Given the description of an element on the screen output the (x, y) to click on. 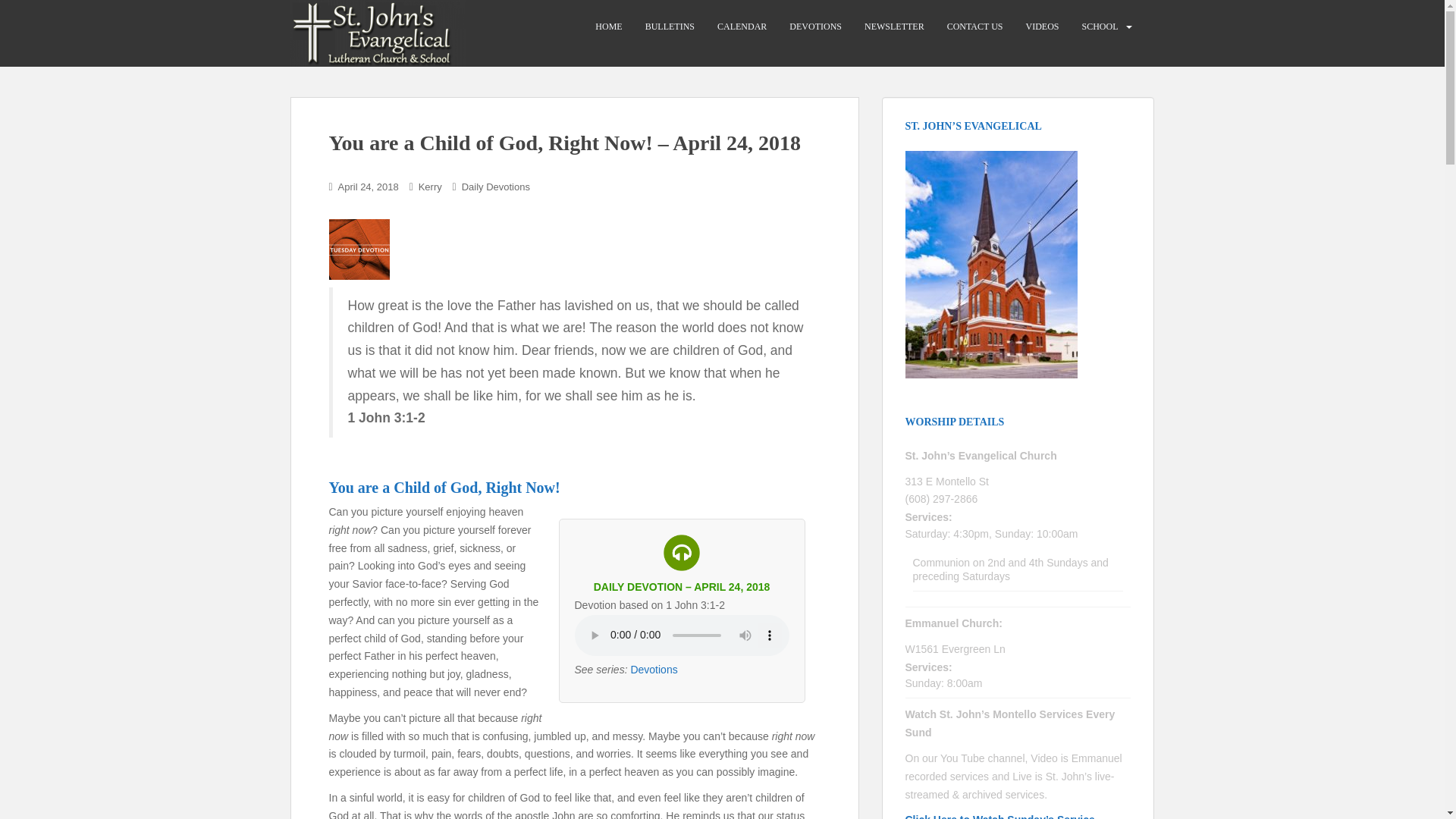
CONTACT US (975, 26)
HOME (608, 26)
CALENDAR (742, 26)
Devotions (653, 669)
DEVOTIONS (815, 26)
Kerry (430, 186)
BULLETINS (669, 26)
April 24, 2018 (367, 186)
SCHOOL (1099, 26)
Daily Devotions (495, 186)
VIDEOS (1041, 26)
NEWSLETTER (894, 26)
